Given the description of an element on the screen output the (x, y) to click on. 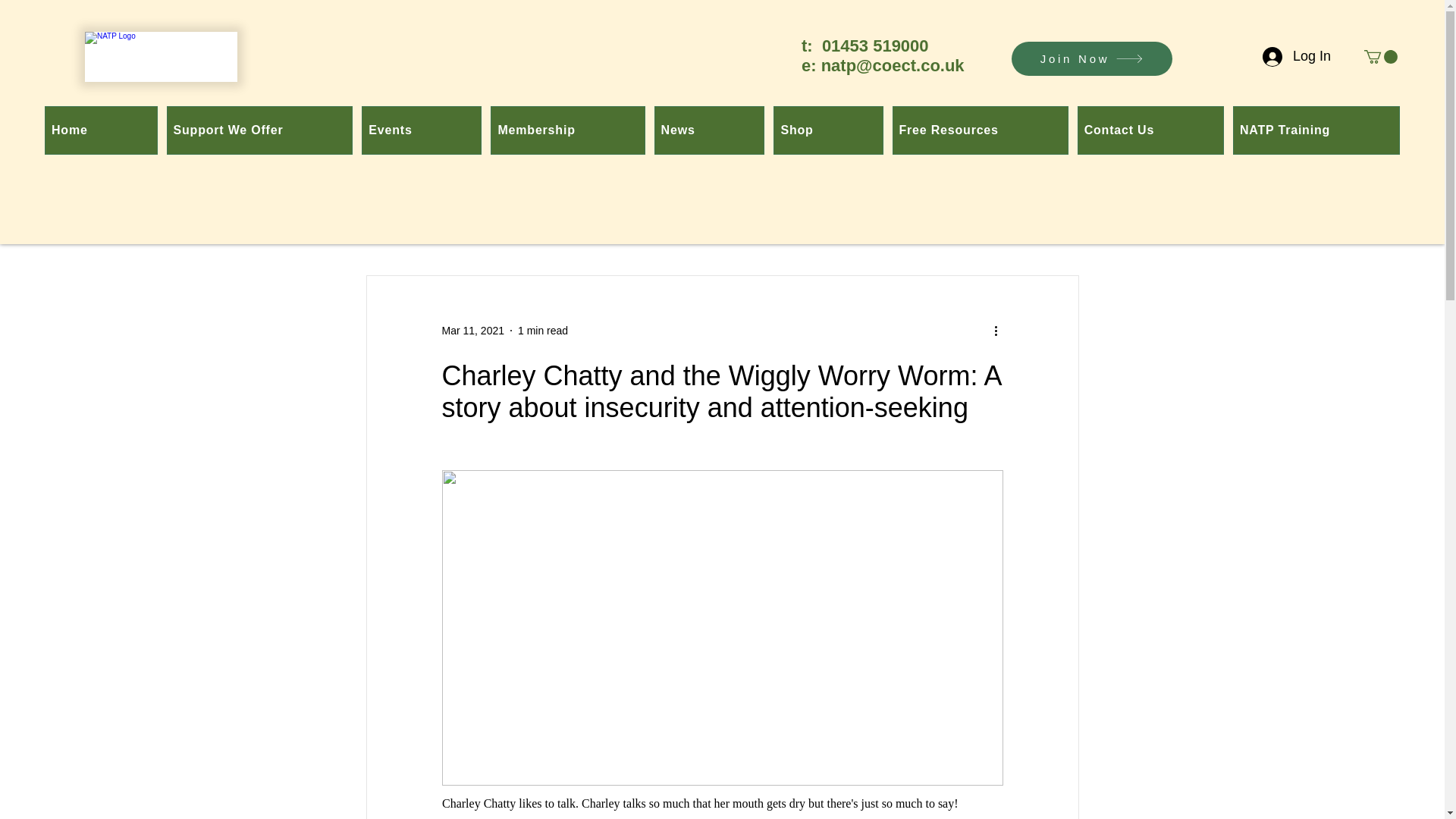
Shop (827, 130)
Join Now (1091, 58)
Events (421, 130)
Membership (567, 130)
Mar 11, 2021 (472, 330)
NATP Training (1316, 130)
1 min read (542, 330)
News (709, 130)
Support We Offer (260, 130)
Log In (1296, 56)
